Given the description of an element on the screen output the (x, y) to click on. 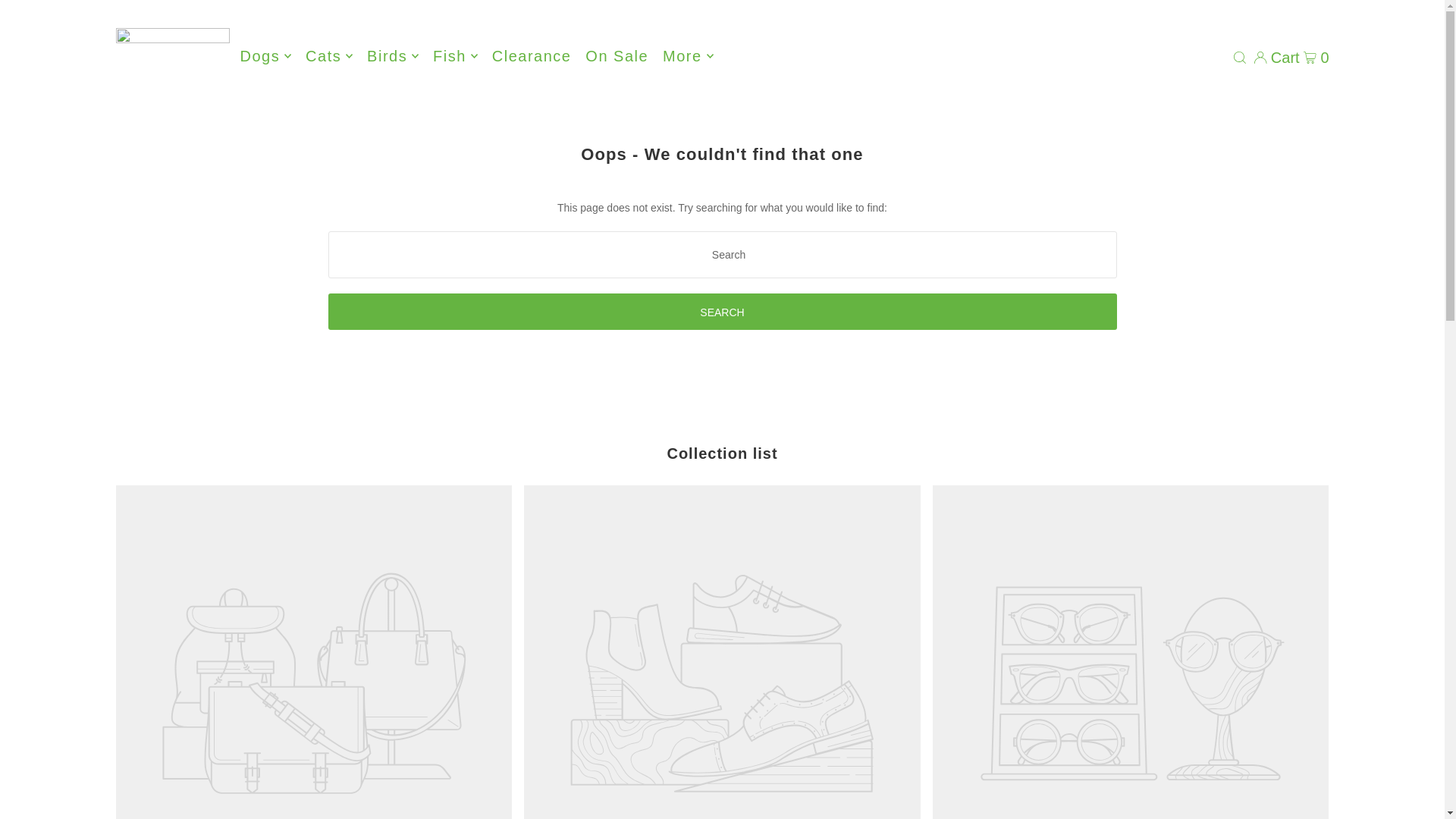
Collection image (722, 652)
Collection image (1131, 652)
Collection image (313, 652)
Search (721, 311)
